Given the description of an element on the screen output the (x, y) to click on. 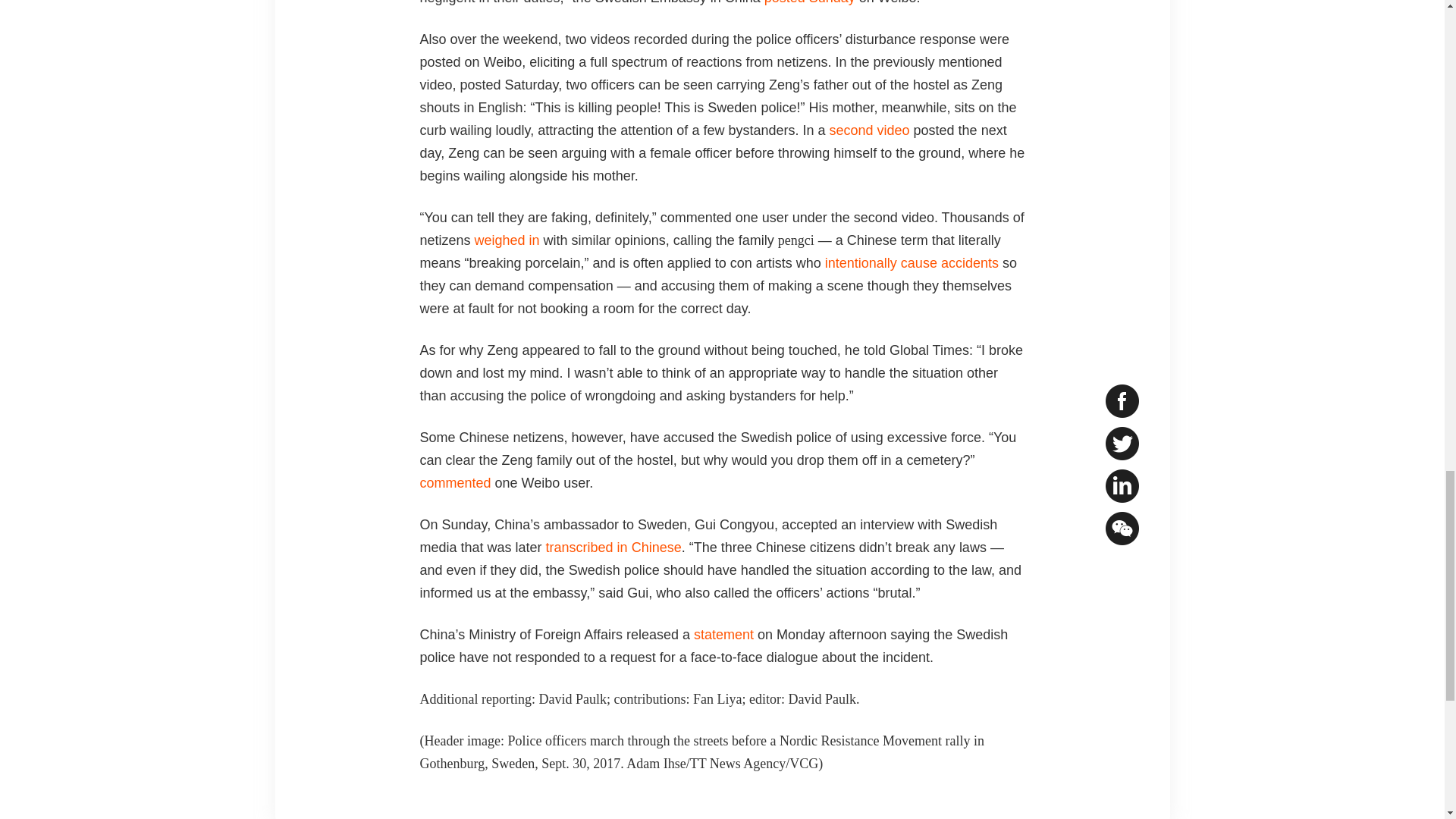
commented (456, 482)
intentionally cause accidents (911, 263)
transcribed in Chinese (613, 547)
second video (868, 130)
posted Sunday (810, 2)
statement (724, 634)
weighed in (507, 240)
